Given the description of an element on the screen output the (x, y) to click on. 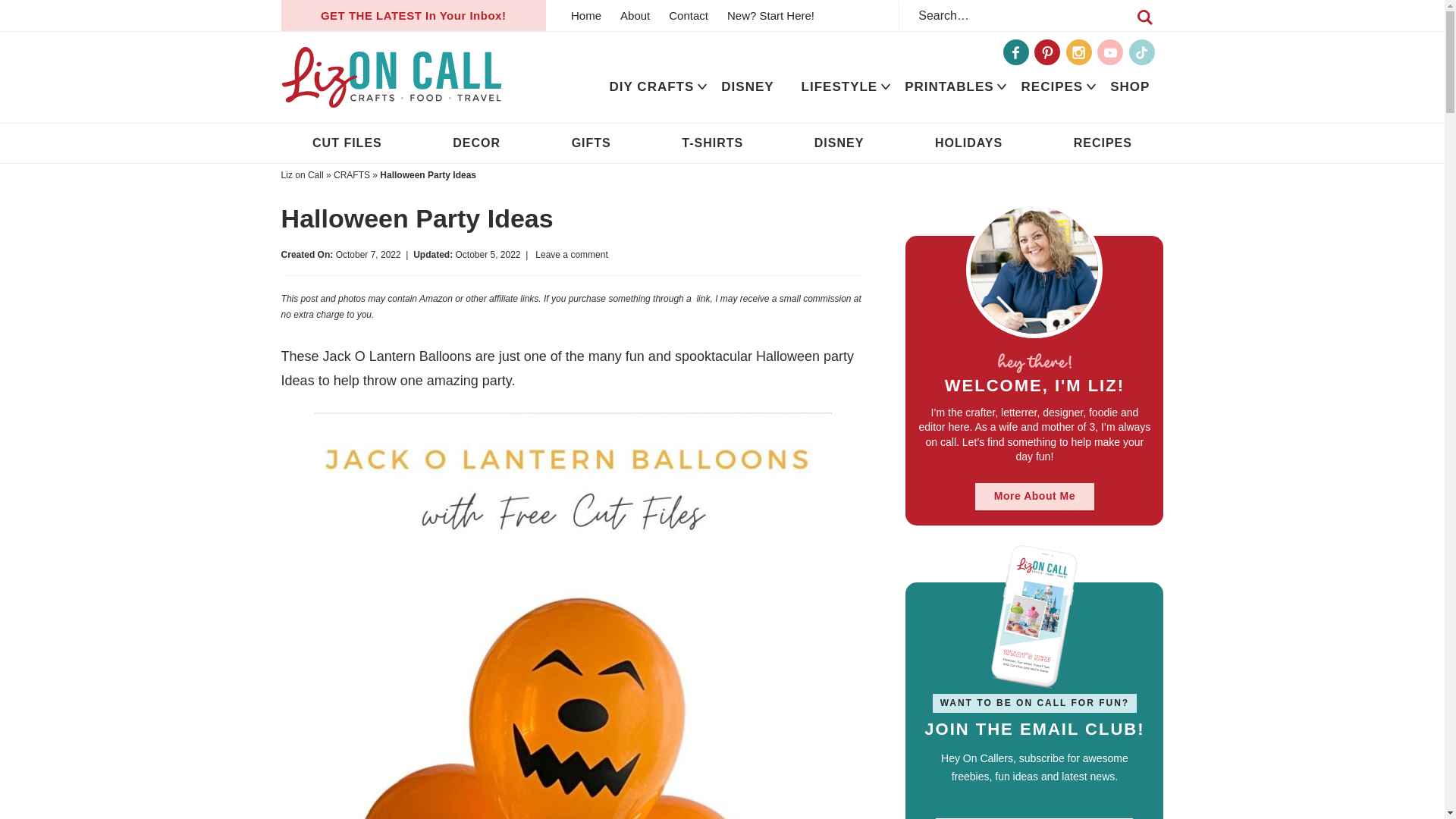
LIZ ON CALL (391, 77)
RECIPES (1052, 86)
GET THE LATEST In Your Inbox! (413, 15)
Contact (688, 15)
New? Start Here! (770, 15)
DISNEY (747, 86)
PRINTABLES (949, 86)
Search for (1031, 15)
About (635, 15)
